Given the description of an element on the screen output the (x, y) to click on. 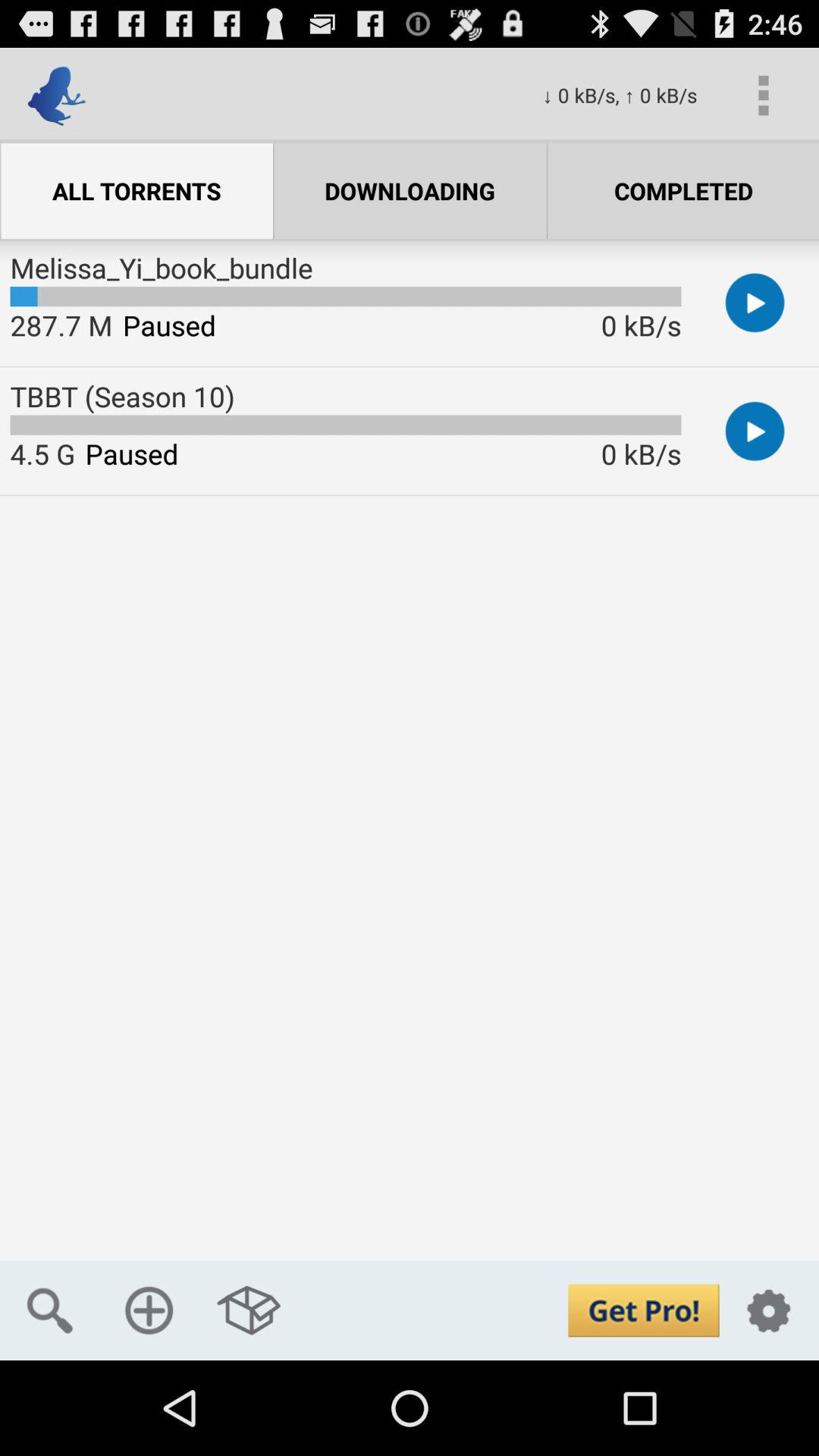
turn off icon next to 0 kb s icon (763, 95)
